Given the description of an element on the screen output the (x, y) to click on. 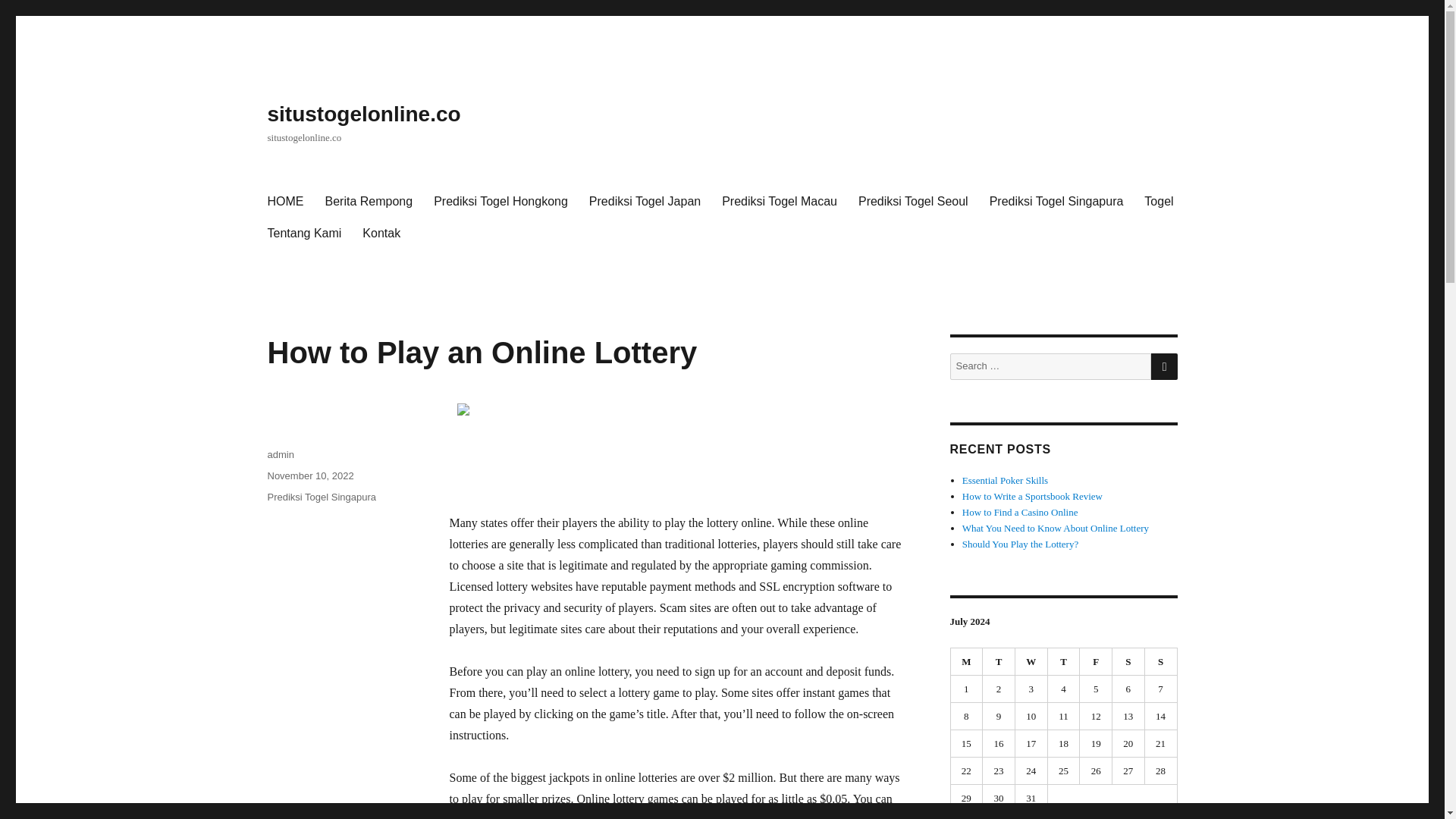
Prediksi Togel Seoul (912, 201)
Berita Rempong (368, 201)
Prediksi Togel Hongkong (500, 201)
Should You Play the Lottery? (1020, 543)
HOME (285, 201)
What You Need to Know About Online Lottery (1055, 527)
Togel (1158, 201)
Prediksi Togel Singapura (1056, 201)
Prediksi Togel Singapura (320, 496)
situstogelonline.co (363, 114)
November 10, 2022 (309, 475)
Tuesday (998, 661)
admin (280, 454)
Thursday (1064, 661)
Tentang Kami (304, 233)
